Given the description of an element on the screen output the (x, y) to click on. 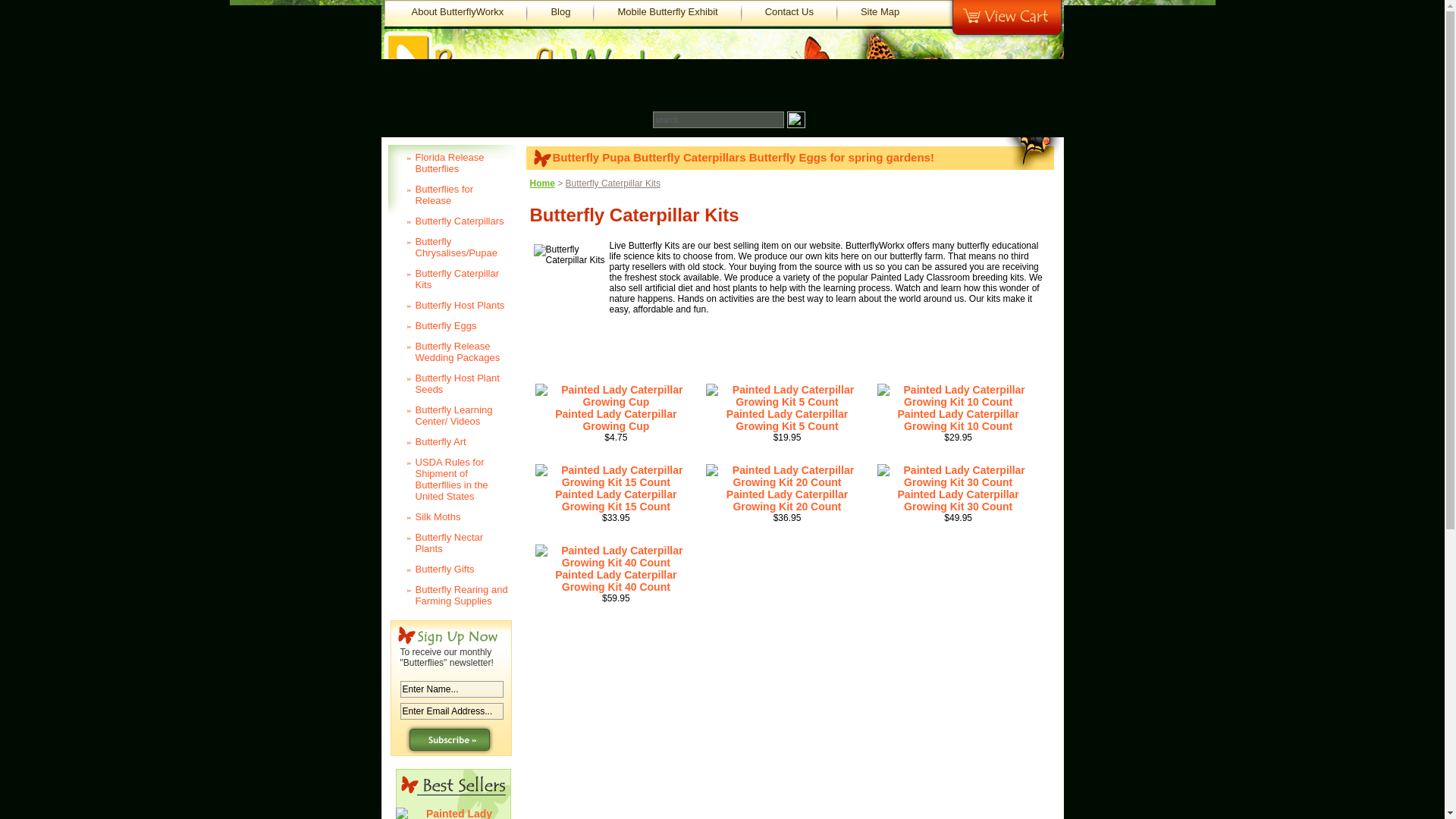
Painted Lady Caterpillar Growing Kit 15 Count (615, 500)
Butterflies for Release (446, 195)
Painted Lady Caterpillar Growing Kit 20 Count (786, 500)
Painted Lady Caterpillar Growing Cup (615, 419)
Painted Lady Caterpillar Growing Kit 20 Count (786, 476)
Silk Moths (446, 517)
Contact Us (788, 11)
USDA Rules for Shipment of Butterfllies in the United States (446, 479)
Painted Lady Caterpillar Growing Kit 5 Count (786, 395)
Butterfly Caterpillar Kits (446, 279)
